Given the description of an element on the screen output the (x, y) to click on. 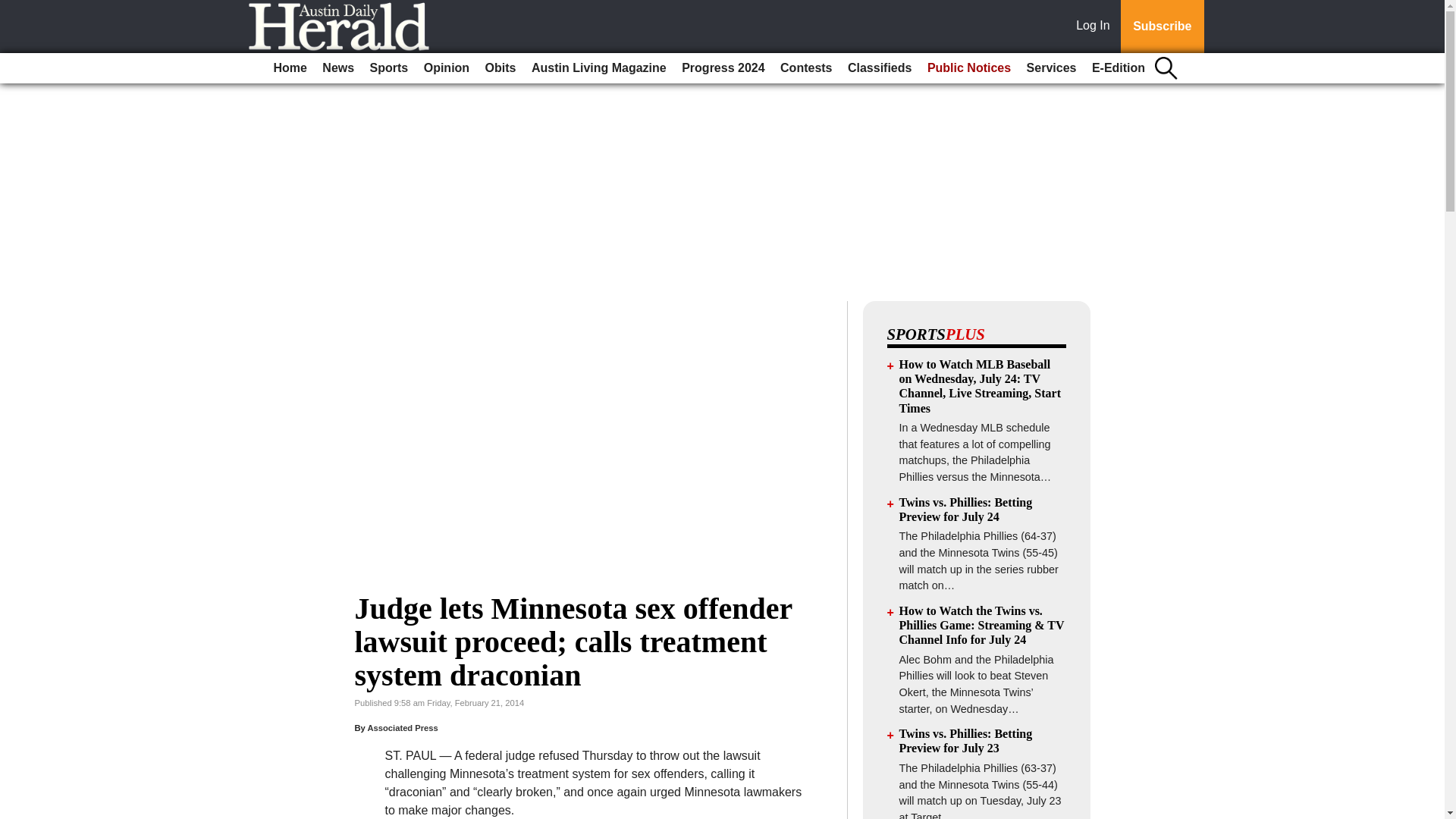
Log In (1095, 26)
Contests (806, 68)
Opinion (446, 68)
Services (1051, 68)
Home (289, 68)
Obits (500, 68)
Sports (389, 68)
Progress 2024 (722, 68)
Public Notices (968, 68)
Classifieds (879, 68)
Austin Living Magazine (598, 68)
Subscribe (1162, 26)
News (337, 68)
